Given the description of an element on the screen output the (x, y) to click on. 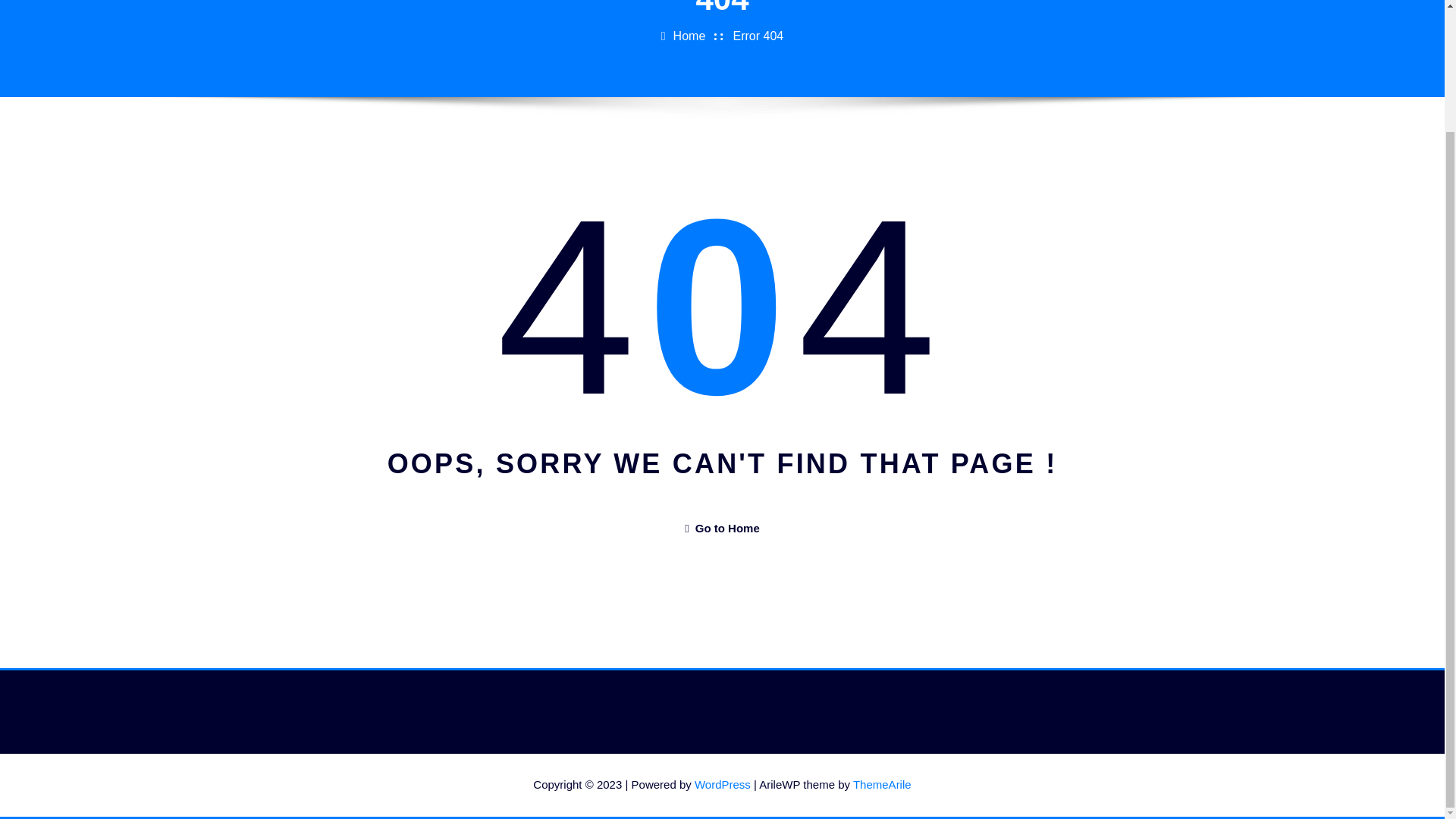
ThemeArile (882, 784)
Home (689, 35)
Error 404 (758, 35)
WordPress (722, 784)
Go to Home (721, 528)
